Given the description of an element on the screen output the (x, y) to click on. 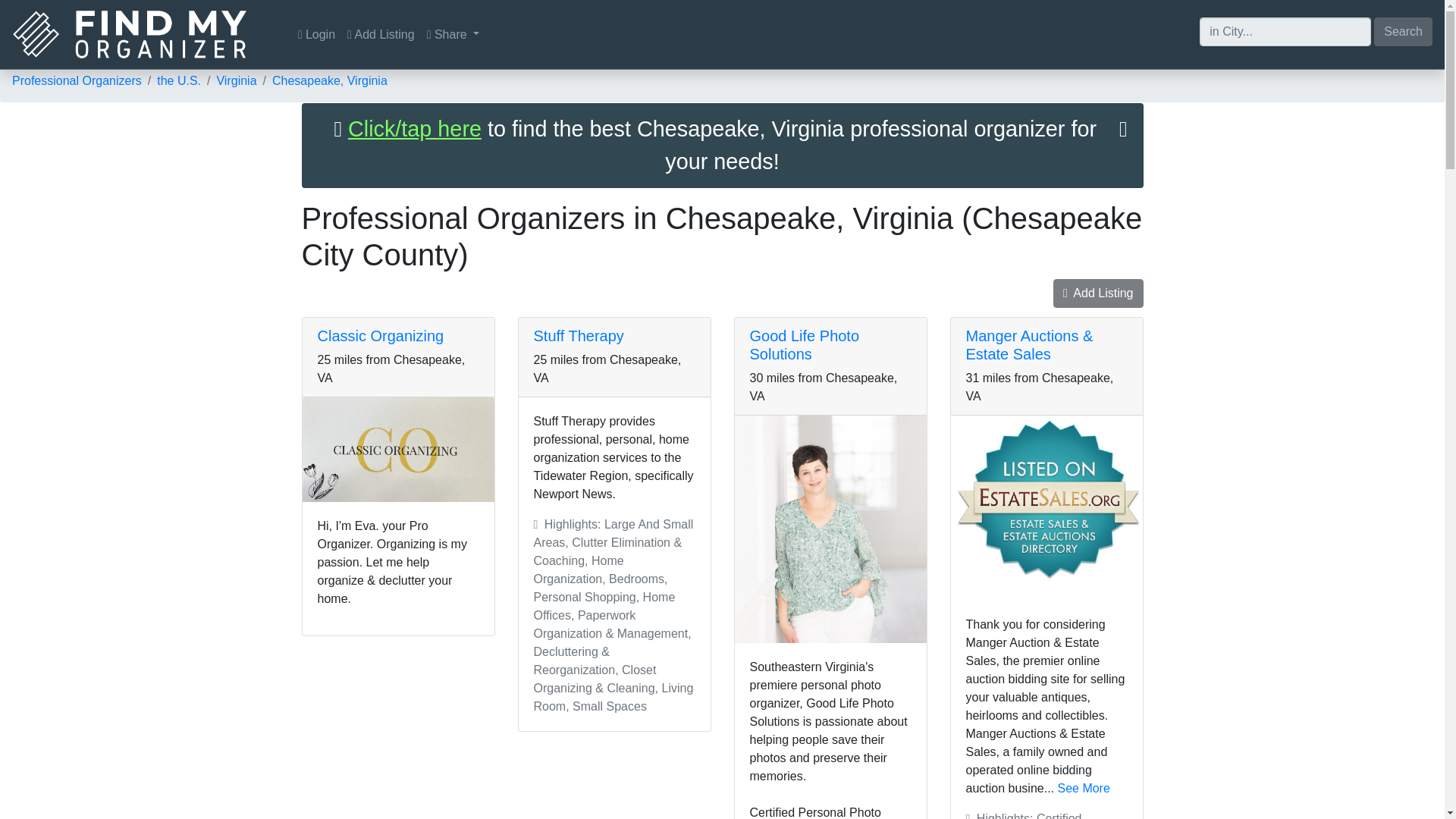
Share (453, 34)
Professional Organizers (76, 80)
Search (1403, 30)
Stuff Therapy (579, 335)
the U.S. (178, 80)
Chesapeake, Virginia (329, 80)
Good Life Photo Solutions (804, 344)
Login (316, 34)
Add Listing (380, 34)
Classic Organizing (380, 335)
See More (1083, 788)
Add Listing (1097, 293)
Virginia (235, 80)
